Given the description of an element on the screen output the (x, y) to click on. 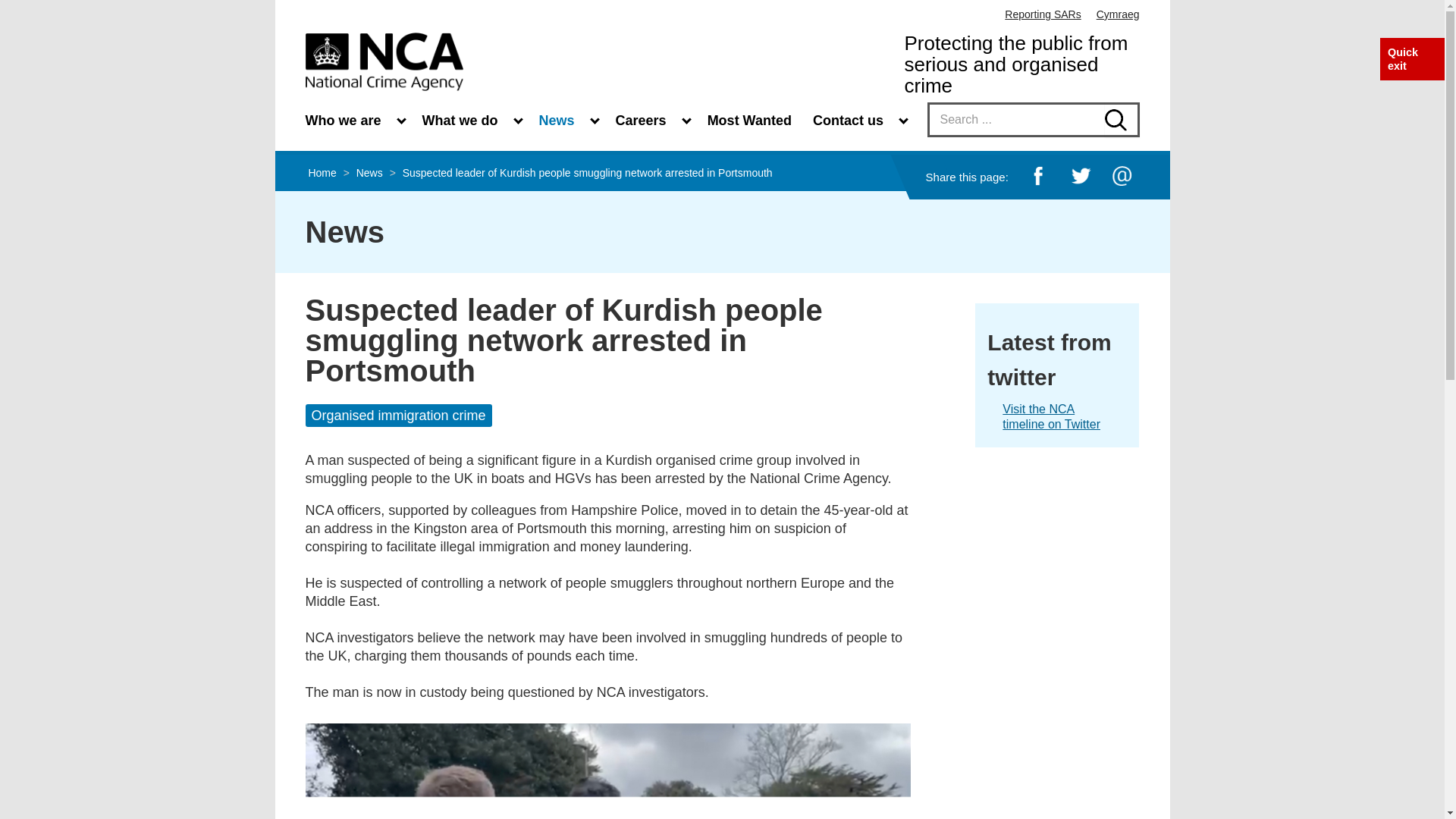
Careers (649, 118)
News (565, 118)
National Crime Agency (383, 61)
Quick exit (1402, 58)
What we do (468, 118)
Who we are (352, 118)
Cymraeg (1118, 14)
Reporting SARs (1042, 14)
